Given the description of an element on the screen output the (x, y) to click on. 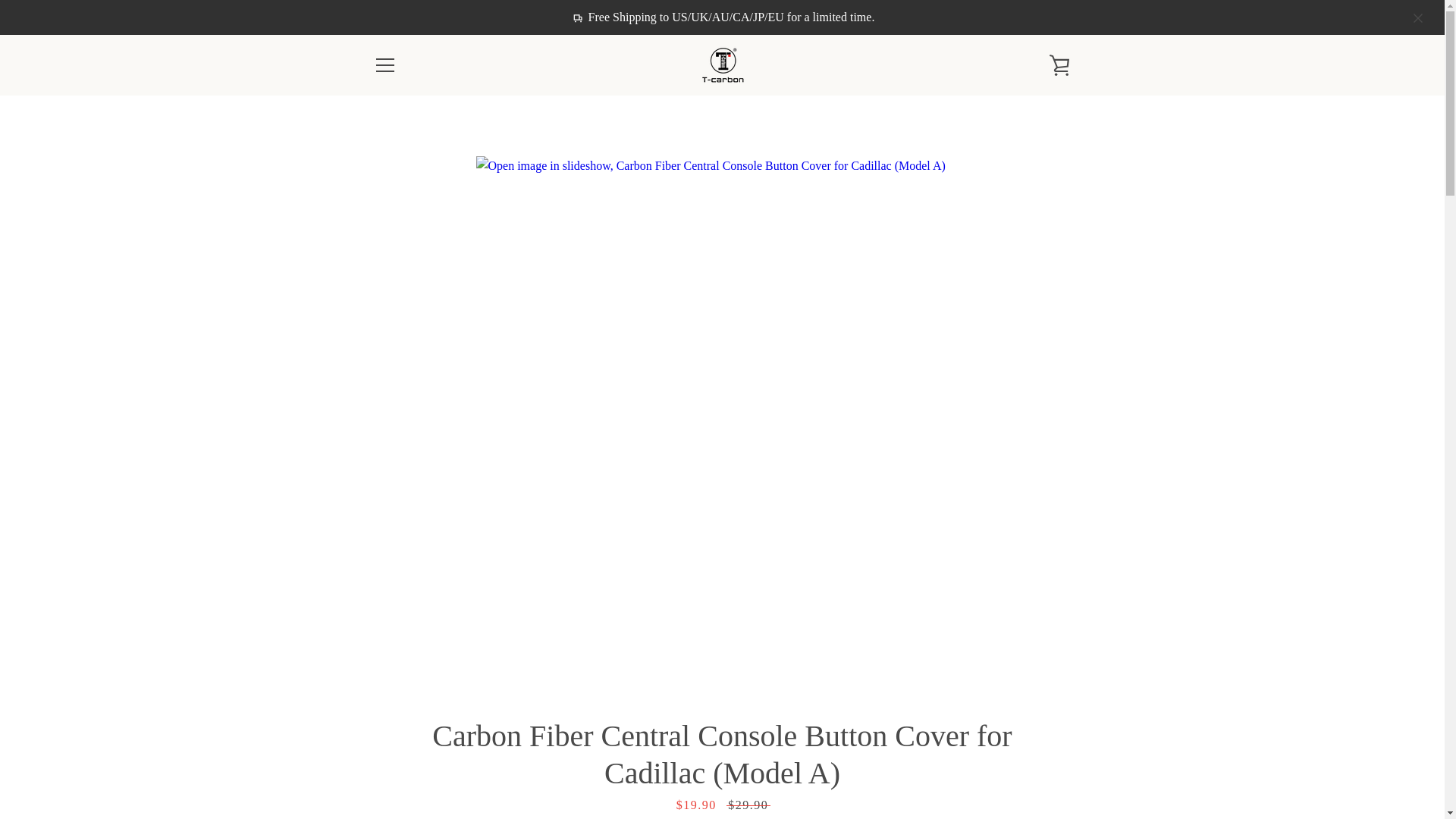
T-Carbon Official Store on Instagram (424, 765)
Google Pay (953, 755)
Apple Pay (918, 755)
PayPal (1022, 755)
American Express (883, 755)
Visa (1057, 778)
Union Pay (1022, 778)
Mastercard (988, 755)
T-Carbon Official Store on Facebook (372, 765)
